Given the description of an element on the screen output the (x, y) to click on. 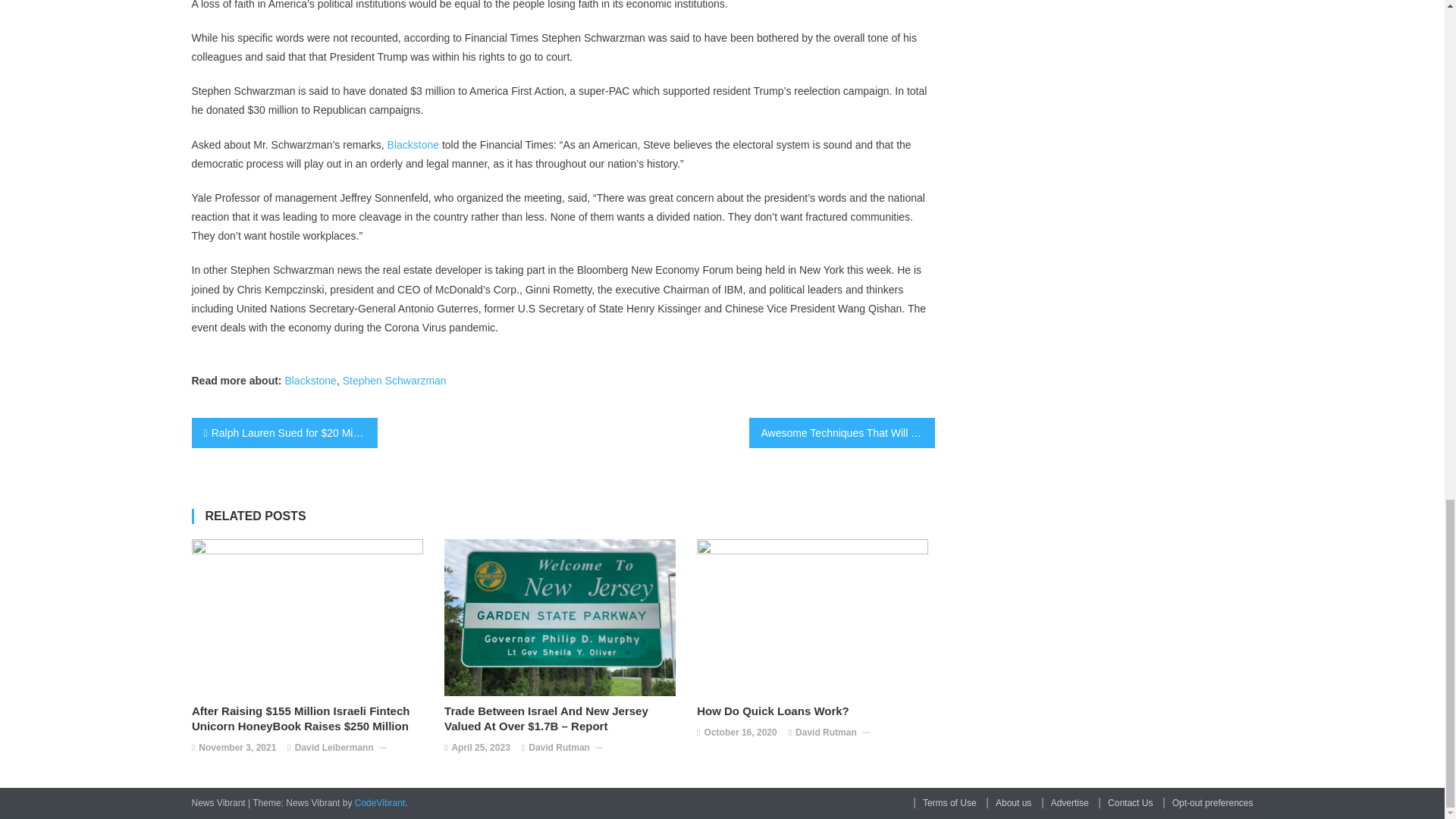
April 25, 2023 (480, 748)
David Leibermann (334, 748)
November 3, 2021 (237, 748)
Blackstone (309, 380)
Stephen Schwarzman (394, 380)
Blackstone (413, 144)
